Given the description of an element on the screen output the (x, y) to click on. 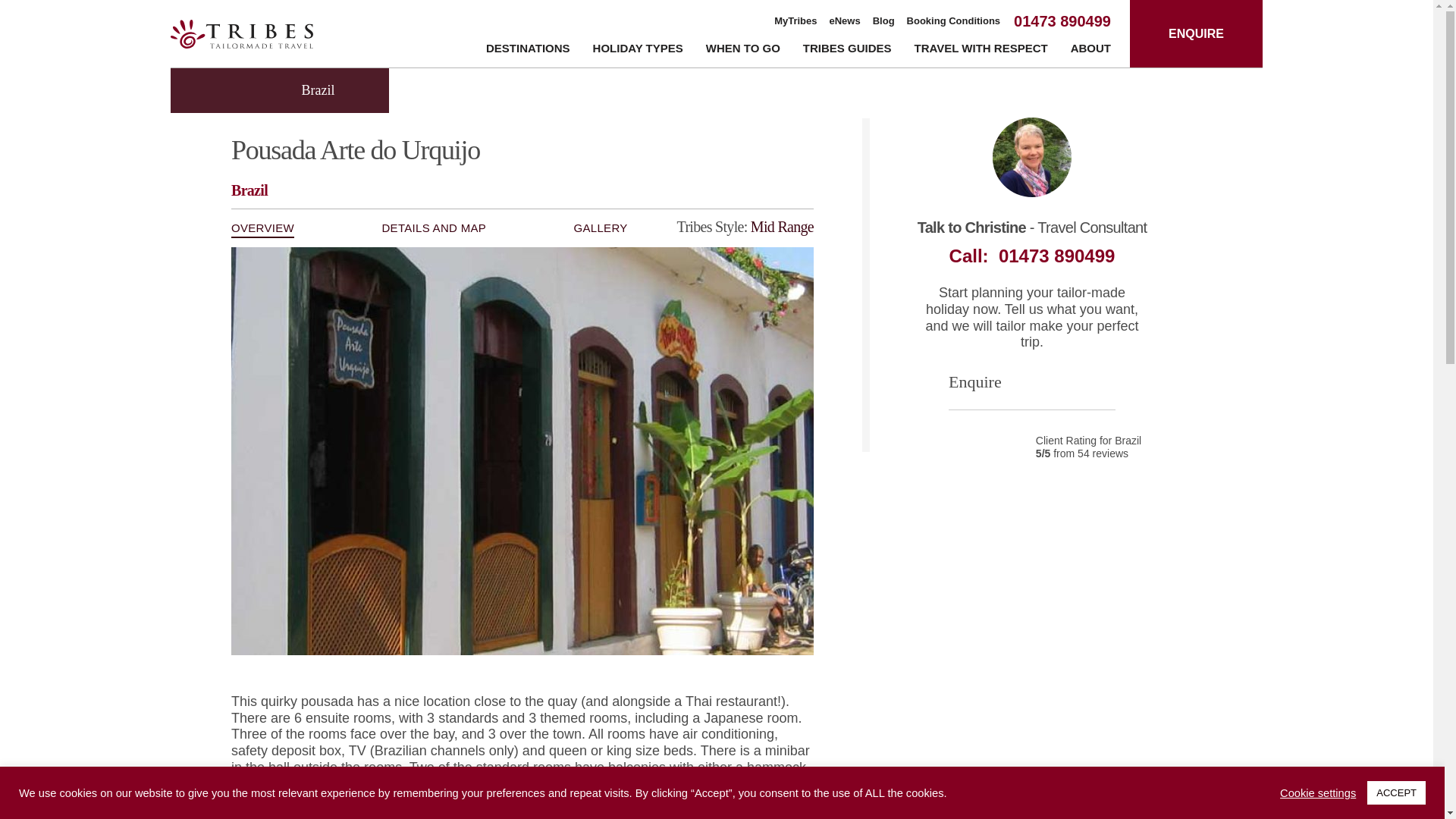
Booking Conditions (953, 21)
eNews (844, 21)
MyTribes (795, 21)
Destinations (528, 50)
Blog (883, 21)
WHEN TO GO (743, 50)
ABOUT (1090, 50)
TRIBES GUIDES (847, 50)
TRAVEL WITH RESPECT (981, 50)
Tribes (241, 33)
